Given the description of an element on the screen output the (x, y) to click on. 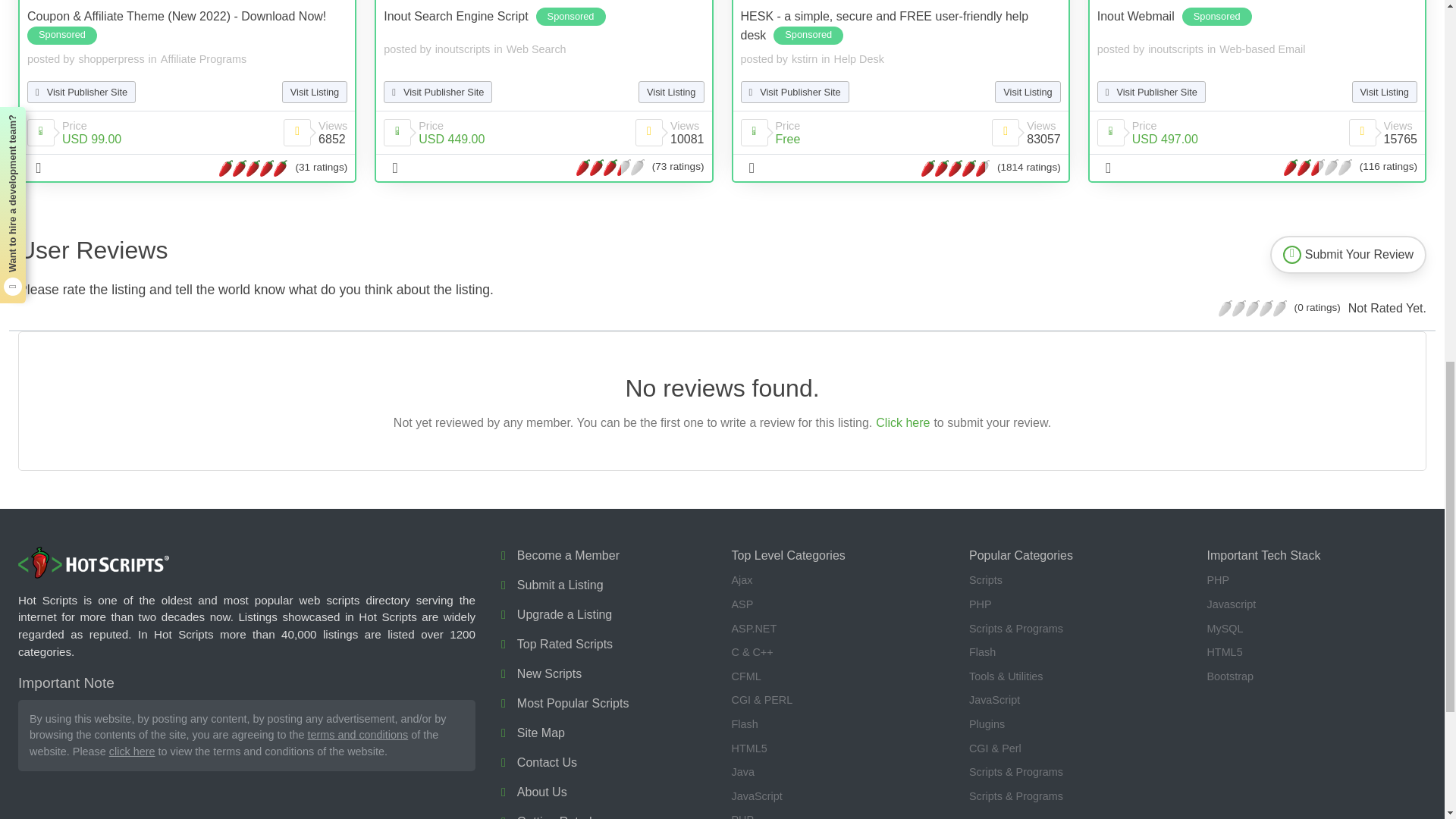
Hotscripts (93, 563)
